Given the description of an element on the screen output the (x, y) to click on. 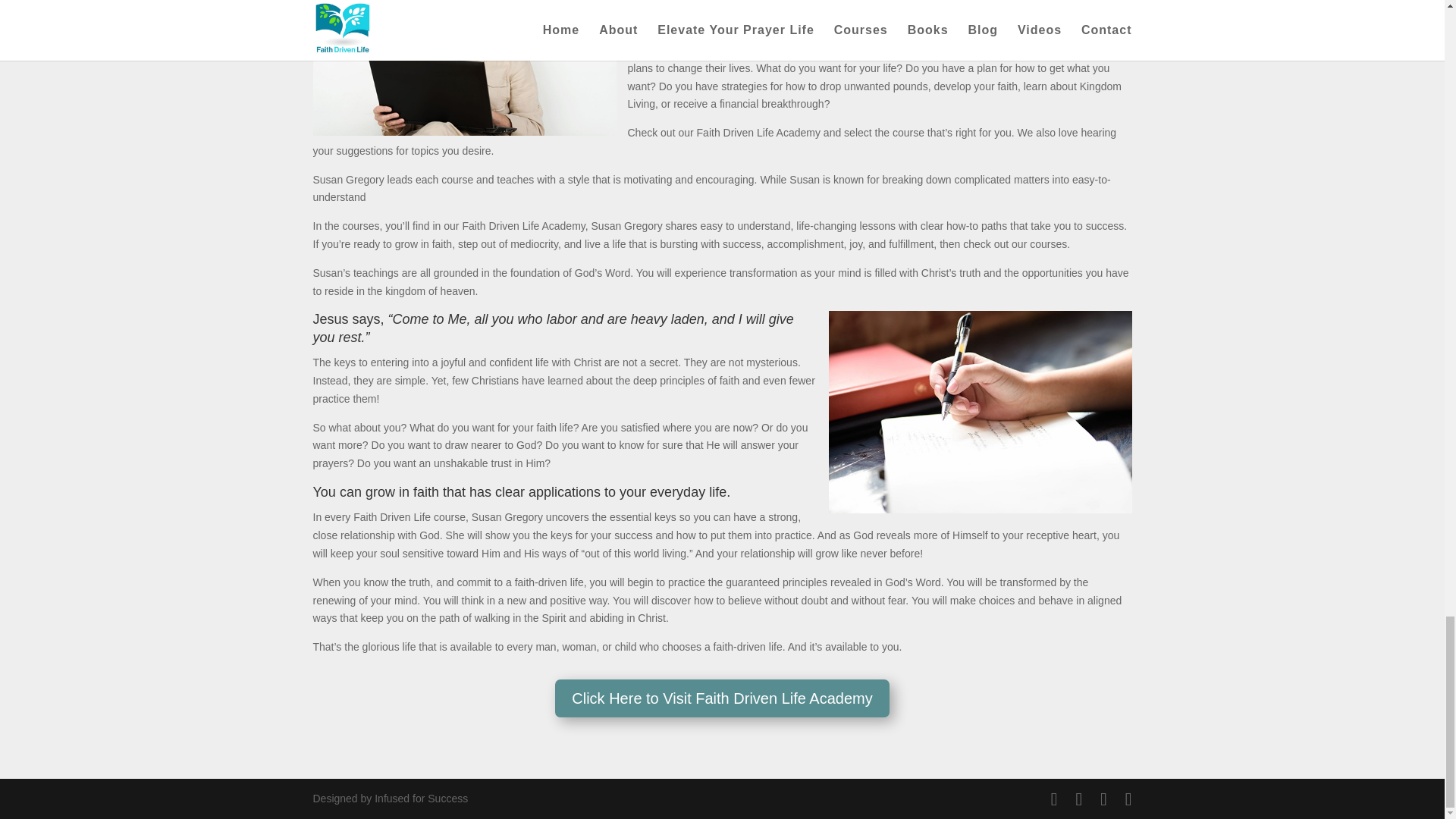
Click Here to Visit Faith Driven Life Academy (721, 698)
